Given the description of an element on the screen output the (x, y) to click on. 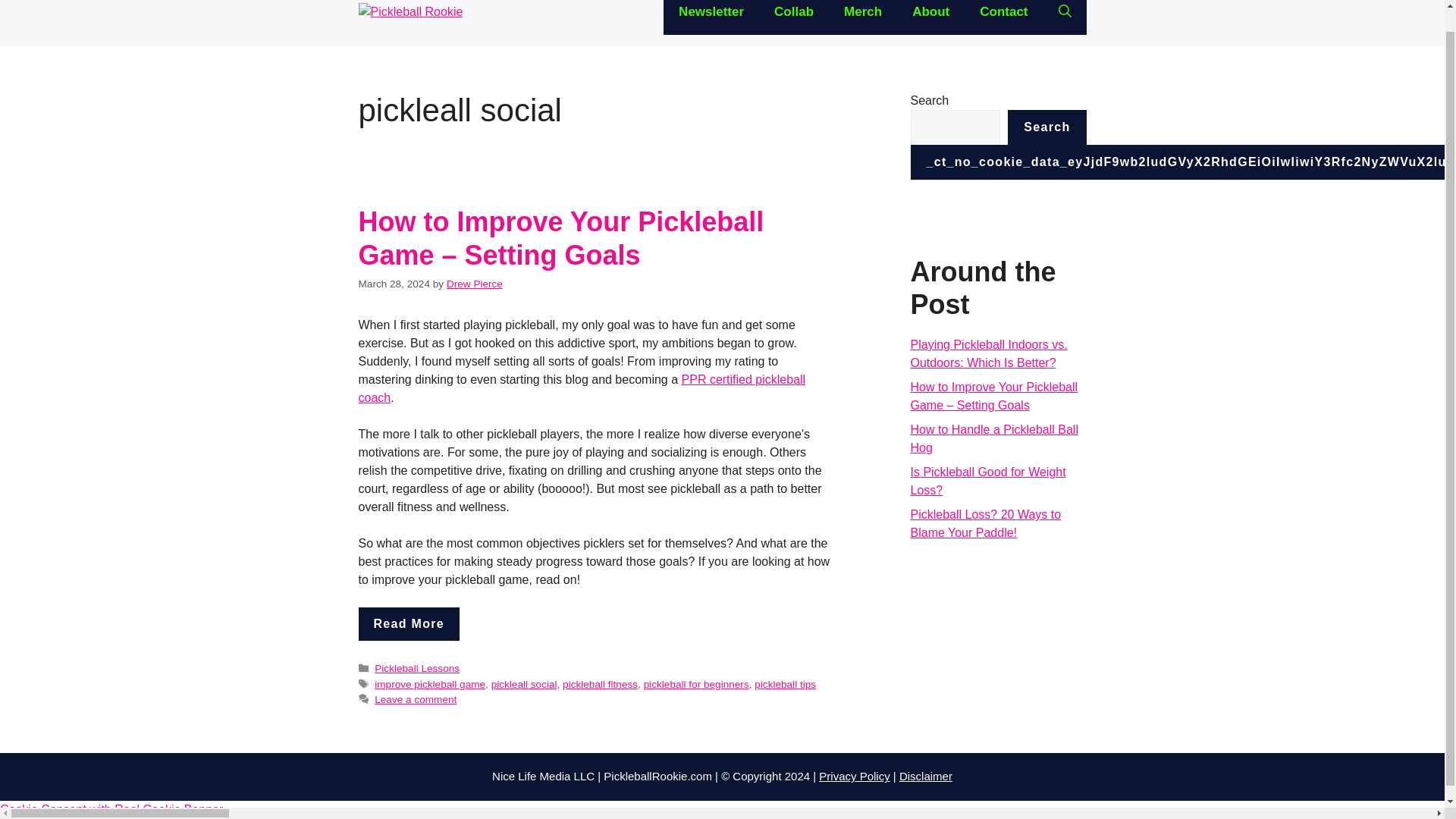
Newsletter (710, 17)
improve pickleball game (429, 684)
Pickleball Lessons (417, 668)
Read More (409, 623)
pickleball tips (784, 684)
Merch (862, 17)
Pickleball Loss? 20 Ways to Blame Your Paddle! (985, 522)
pickleball fitness (599, 684)
View all posts by Drew Pierce (474, 283)
pickleball for beginners (696, 684)
About (929, 17)
Disclaimer (925, 775)
Collab (793, 17)
Is Pickleball Good for Weight Loss? (987, 481)
Leave a comment (415, 699)
